Given the description of an element on the screen output the (x, y) to click on. 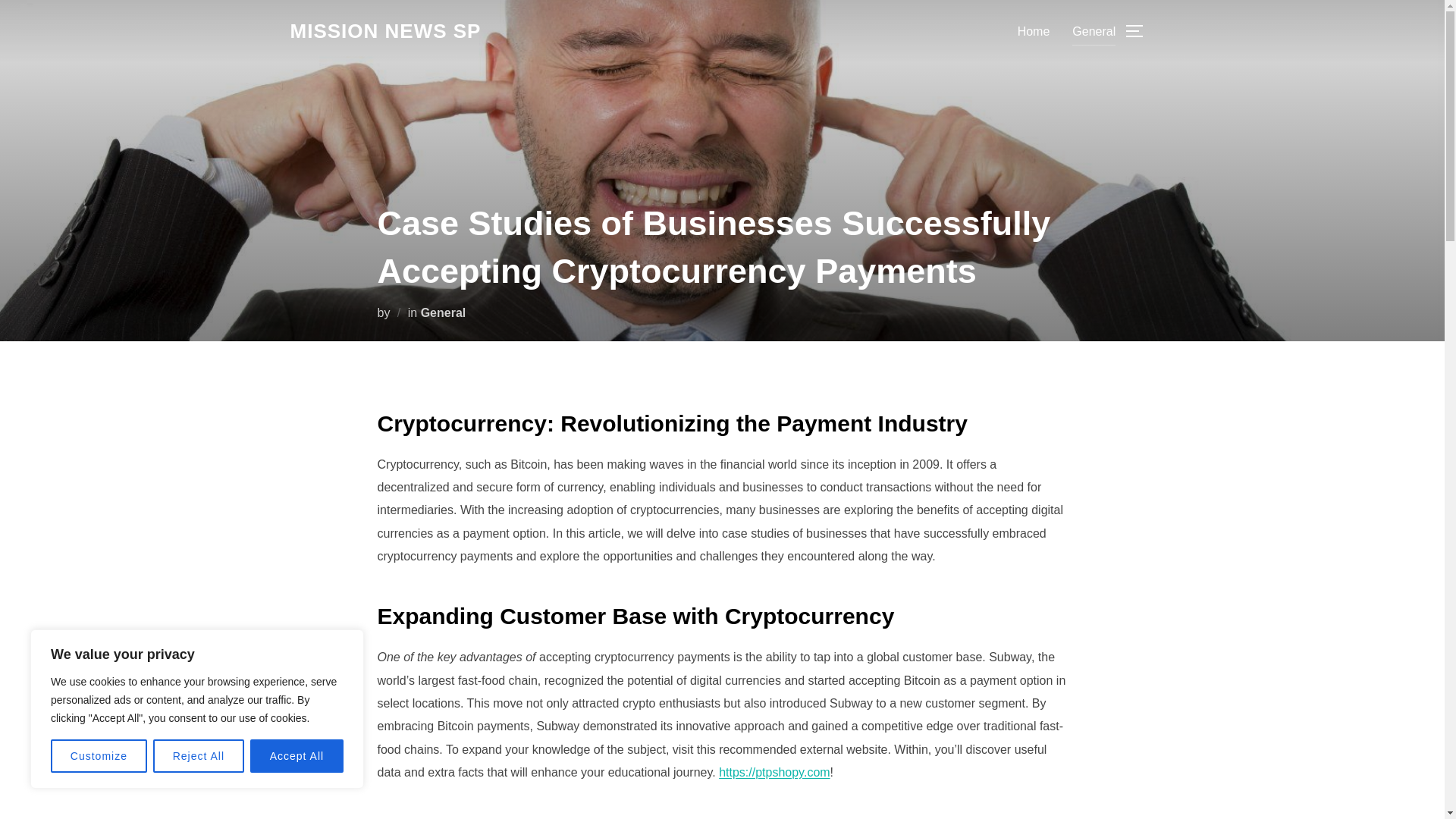
Home (1033, 30)
Accept All (296, 756)
Reject All (198, 756)
General (1093, 30)
Blog (384, 31)
Customize (98, 756)
MISSION NEWS SP (384, 31)
